Given the description of an element on the screen output the (x, y) to click on. 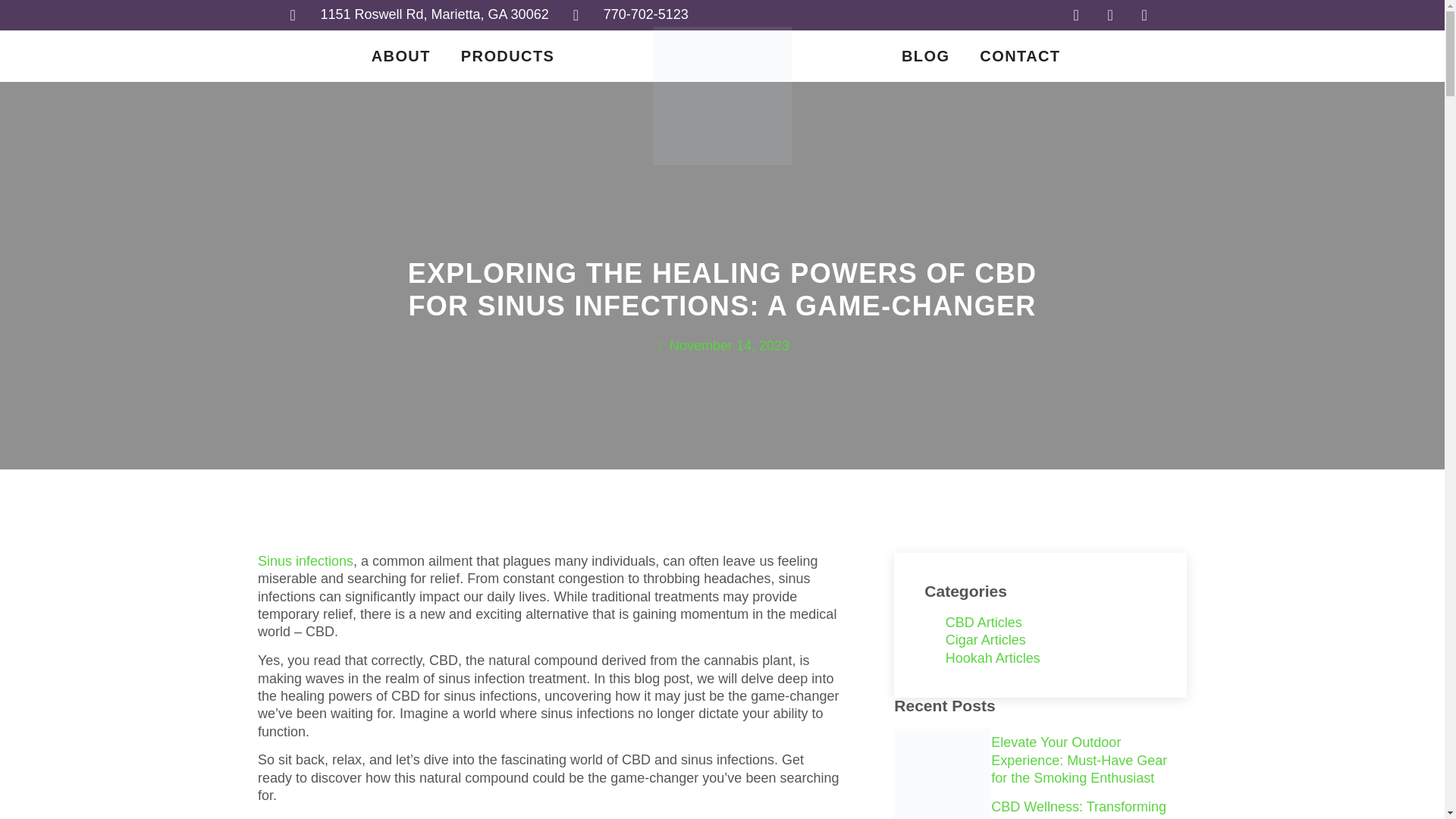
770-702-5123 (630, 14)
BLOG (924, 55)
CONTACT (1019, 55)
PRODUCTS (507, 55)
ABOUT (400, 55)
November 14, 2023 (722, 345)
1151 Roswell Rd, Marietta, GA 30062 (418, 14)
